Given the description of an element on the screen output the (x, y) to click on. 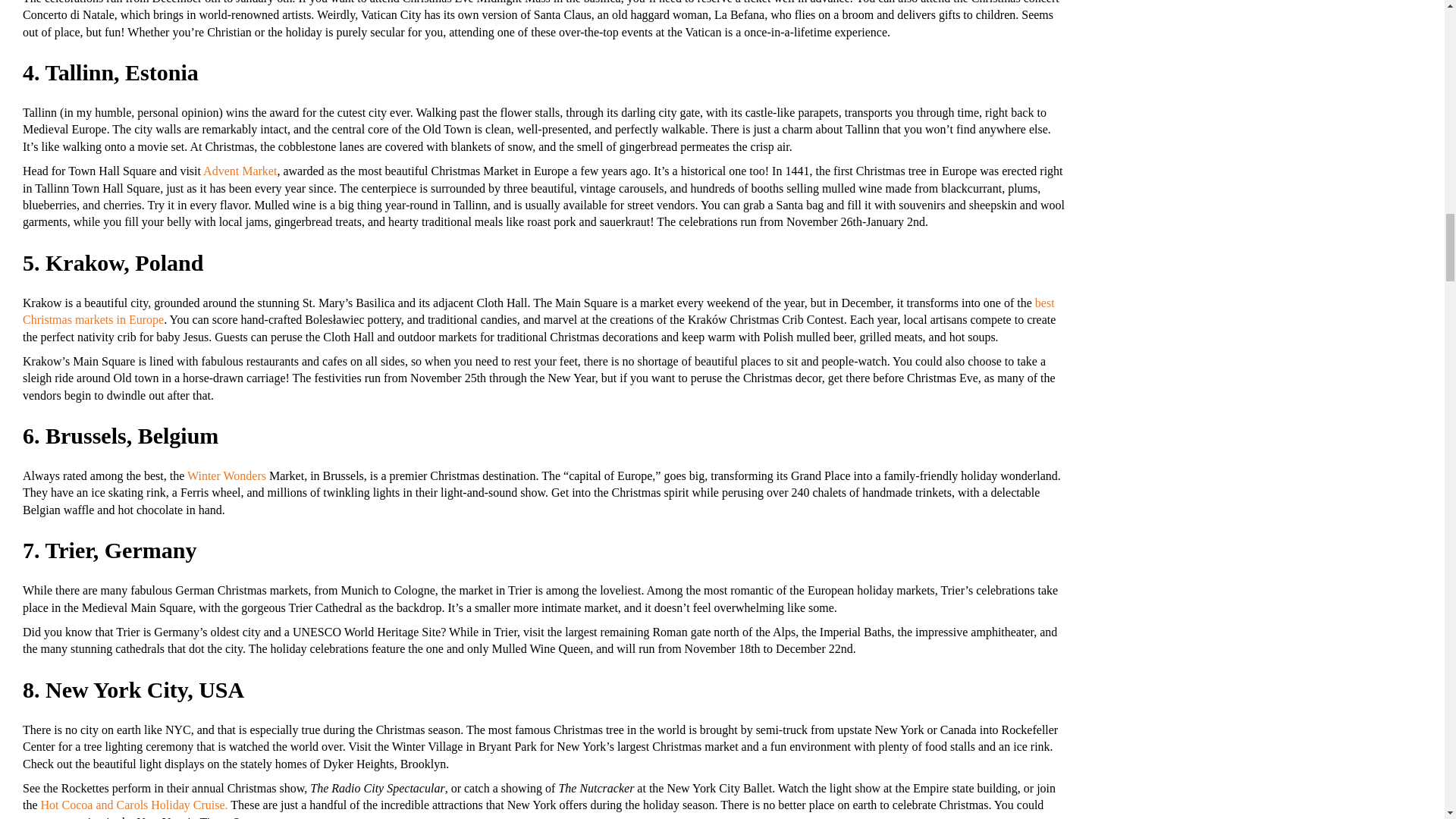
best Christmas markets in Europe (538, 310)
Winter Wonders (226, 475)
Hot Cocoa and Carols Holiday Cruise. (134, 804)
Advent Market (239, 170)
